Given the description of an element on the screen output the (x, y) to click on. 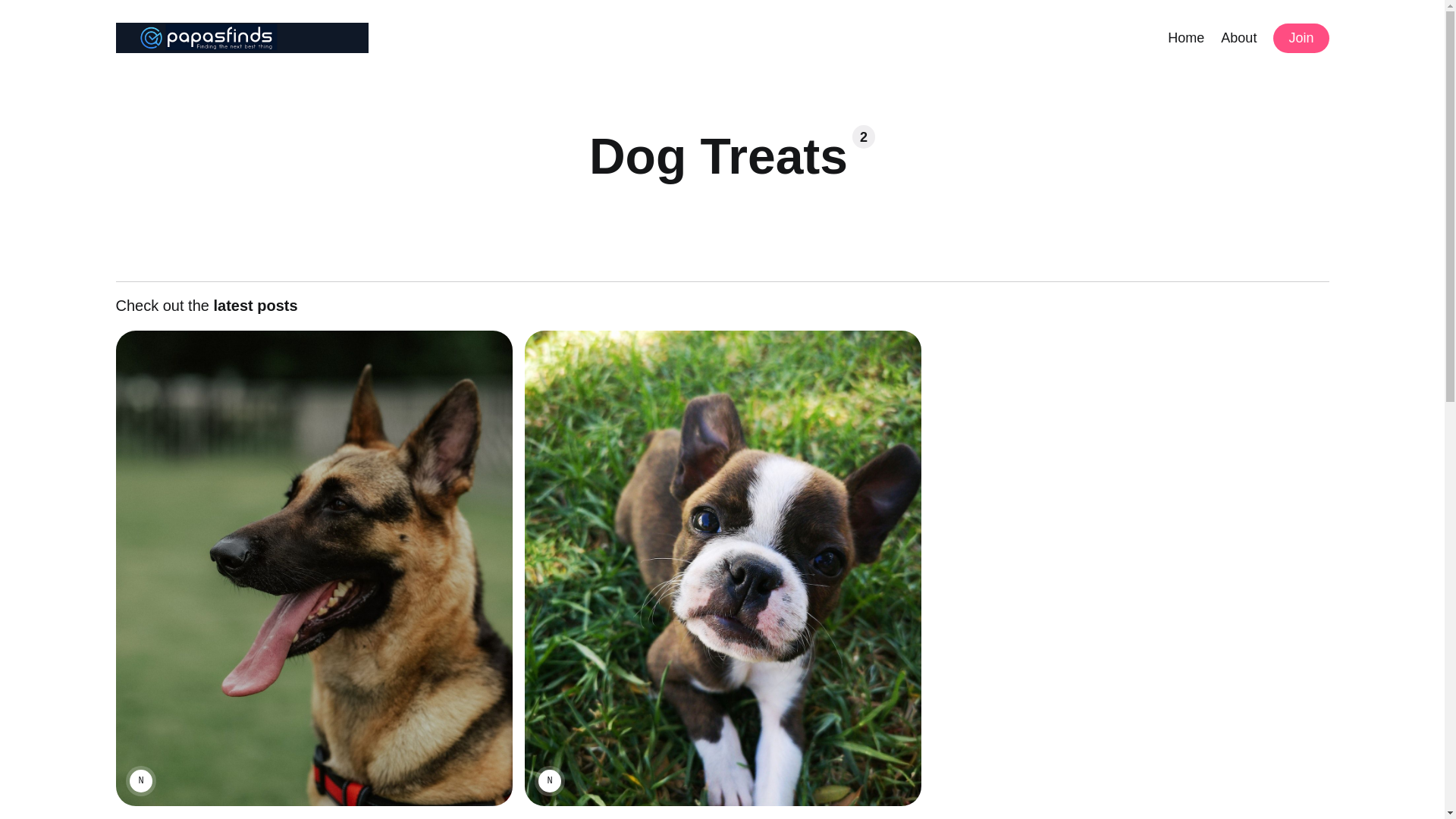
Join (1299, 37)
Nika Khurtsidze (548, 780)
Home (1185, 37)
About (1238, 37)
Nika Khurtsidze (140, 780)
